Given the description of an element on the screen output the (x, y) to click on. 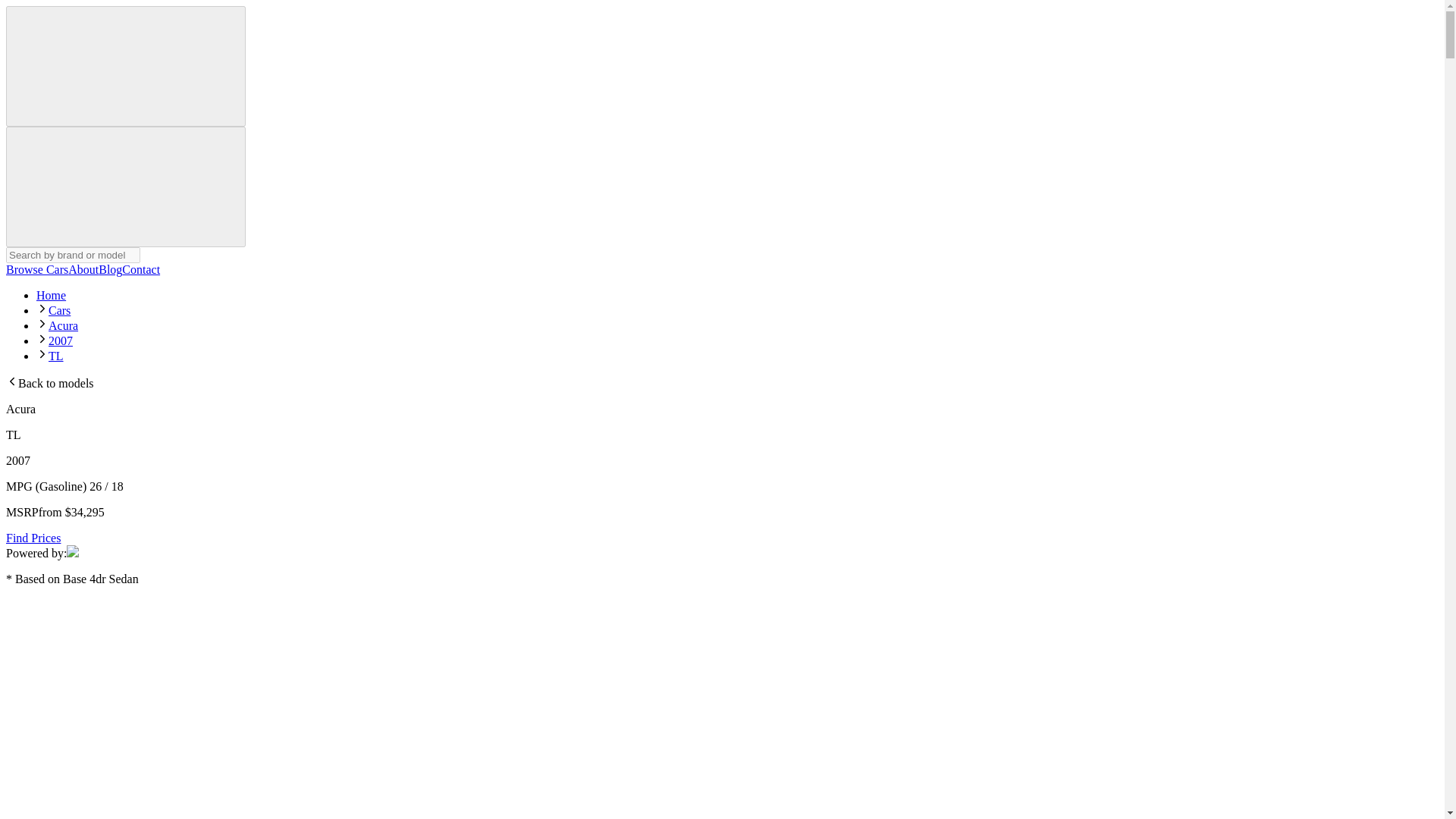
Blog (110, 269)
About (83, 269)
Browse Cars (36, 269)
2007 (60, 340)
Contact (141, 269)
Cars (58, 309)
TL (56, 355)
Find Prices (33, 537)
Home (50, 295)
Acura (63, 325)
